Given the description of an element on the screen output the (x, y) to click on. 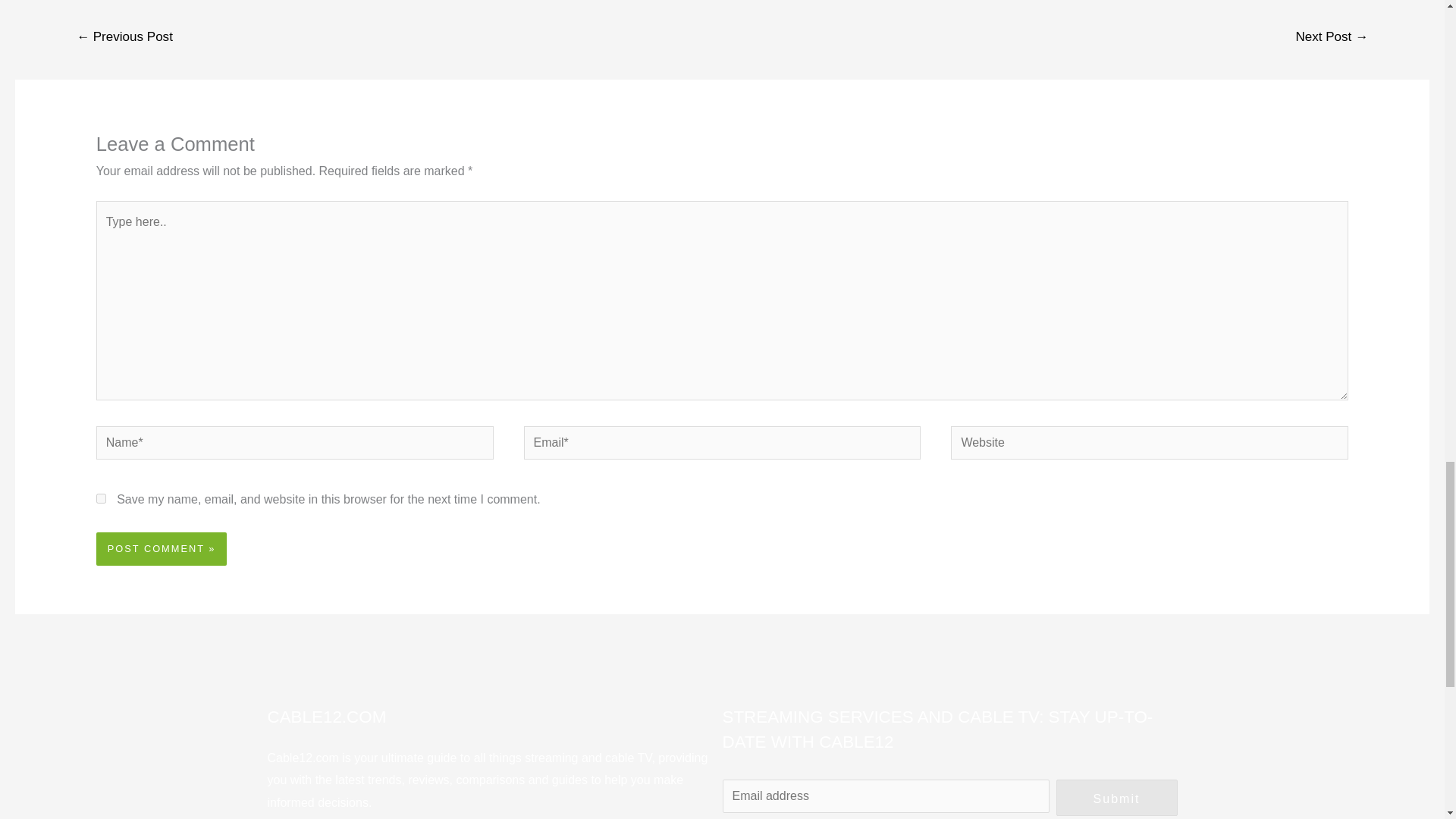
yes (101, 498)
Submit (1115, 797)
